Given the description of an element on the screen output the (x, y) to click on. 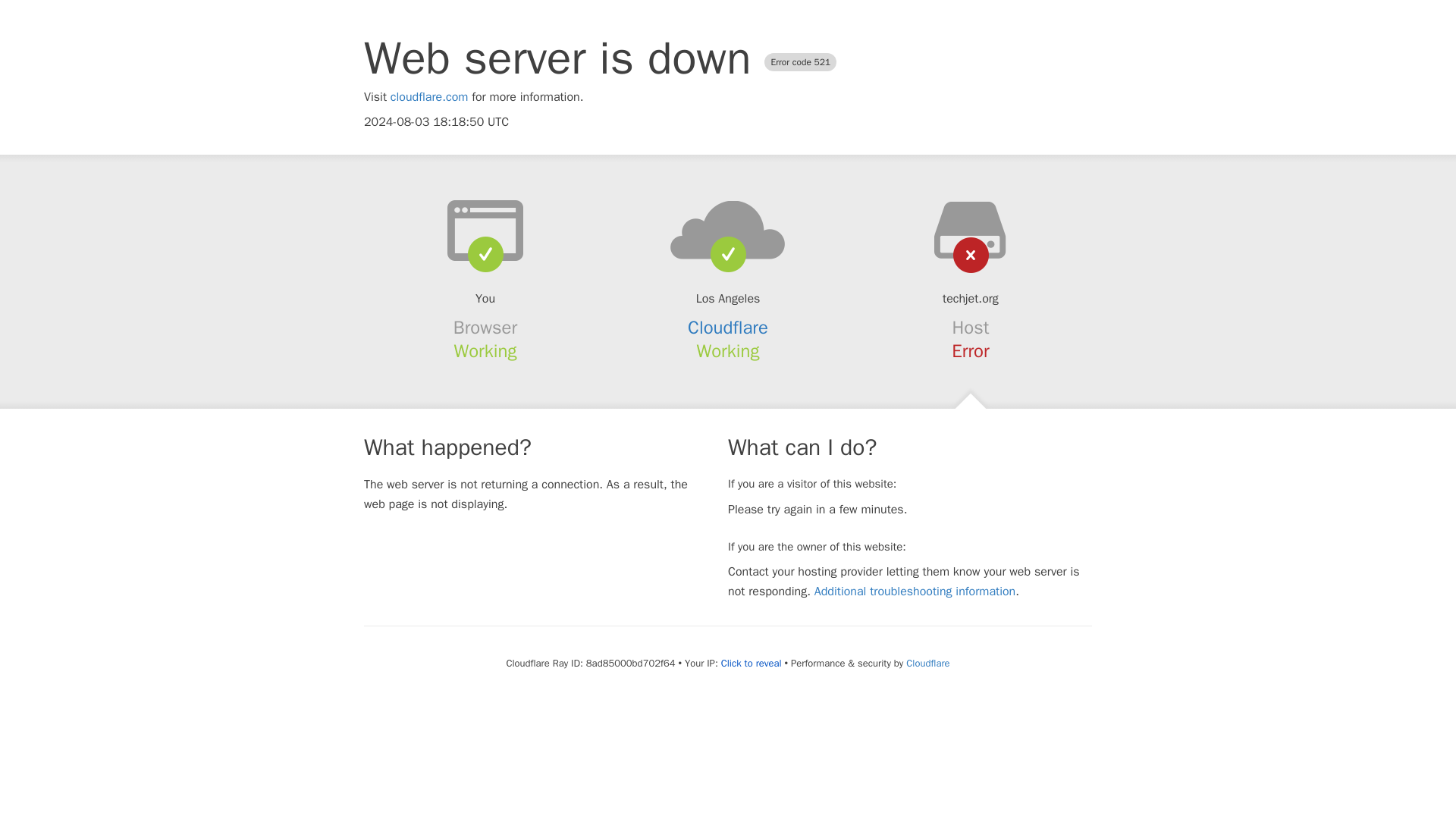
Cloudflare (927, 662)
cloudflare.com (429, 96)
Click to reveal (750, 663)
Additional troubleshooting information (913, 590)
Cloudflare (727, 327)
